Given the description of an element on the screen output the (x, y) to click on. 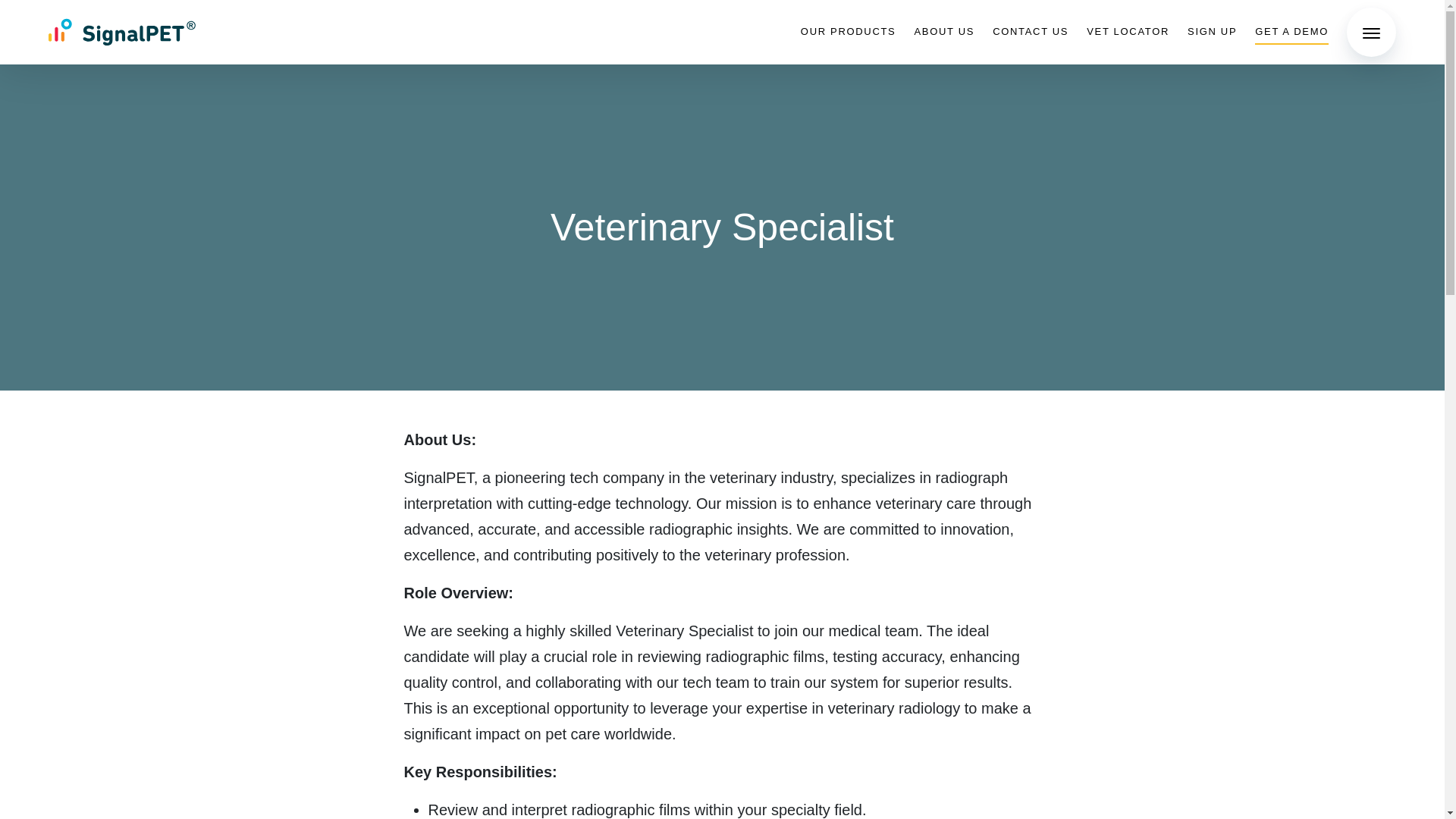
OUR PRODUCTS (848, 31)
SIGN UP (1212, 31)
GET A DEMO (1291, 31)
ABOUT US (944, 31)
CONTACT US (1030, 31)
VET LOCATOR (1127, 31)
